Given the description of an element on the screen output the (x, y) to click on. 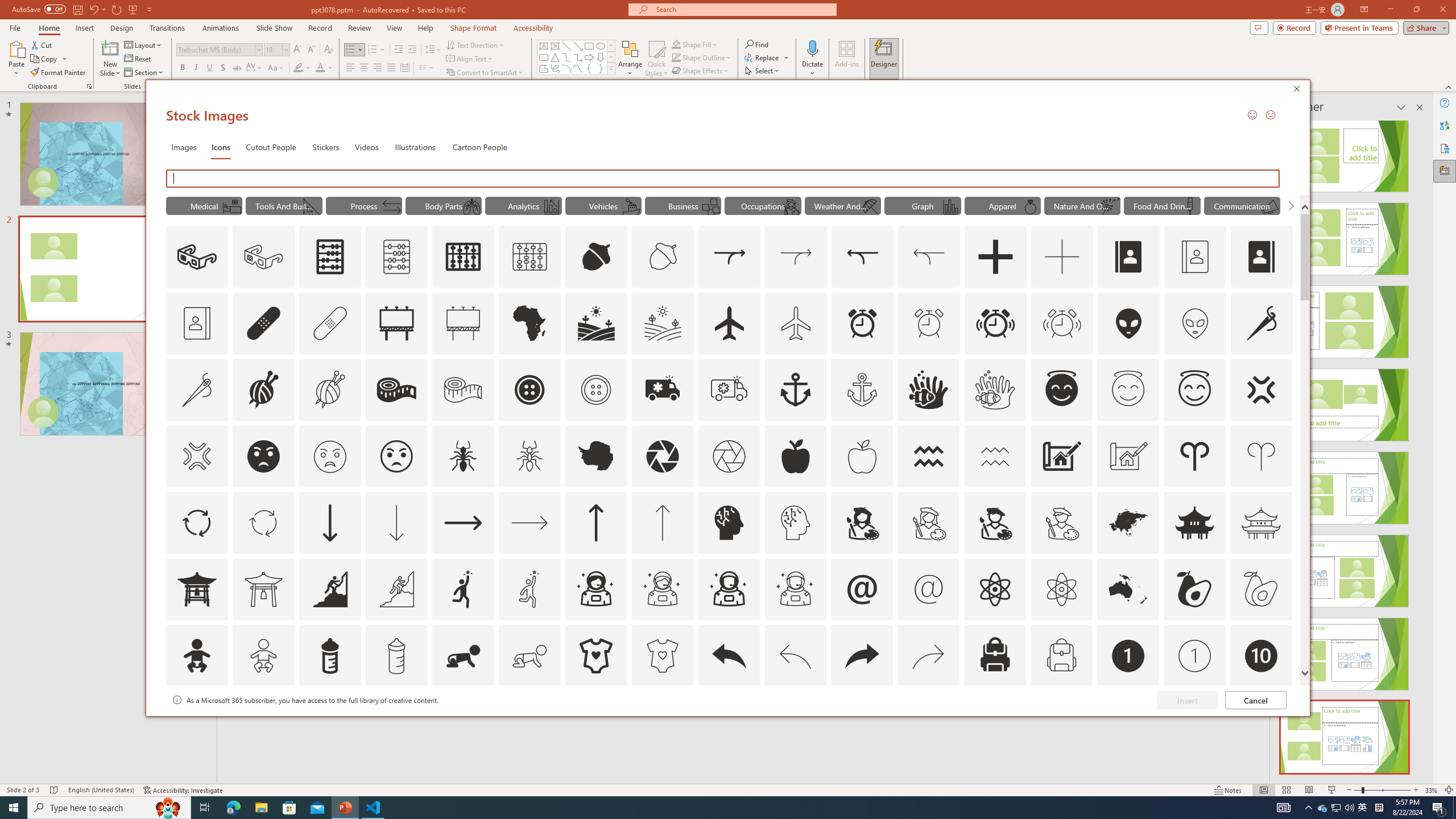
"Apparel" Icons. (1002, 205)
AutomationID: Icons_AstronautFemale_M (662, 588)
AutomationID: Icons_Aperture (662, 455)
AutomationID: Icons_Baby (196, 655)
AutomationID: Icons_AddressBook_RTL (1261, 256)
